Given the description of an element on the screen output the (x, y) to click on. 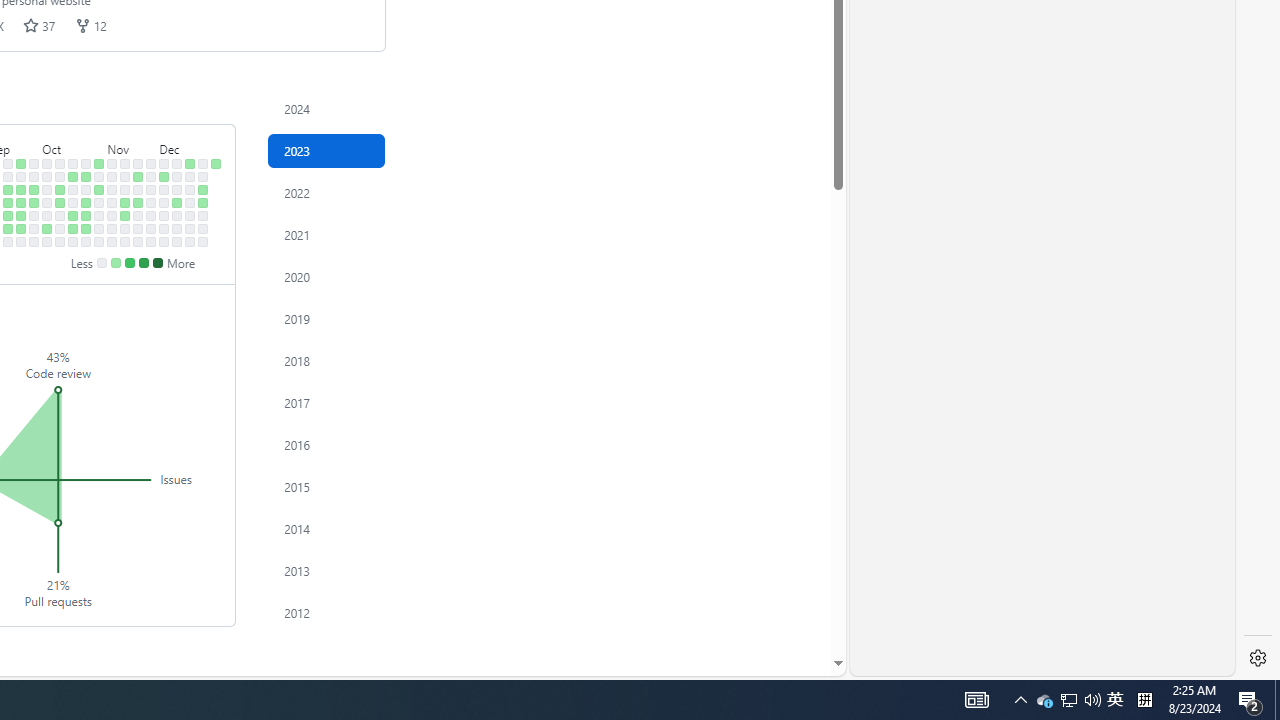
5 contributions on October 20th. (73, 228)
No contributions on November 18th. (125, 241)
No contributions on September 24th. (34, 163)
No contributions on December 15th. (177, 228)
No contributions on October 14th. (60, 241)
No contributions on November 29th. (151, 202)
4 contributions on September 21st. (20, 215)
No contributions on September 10th. (8, 163)
No contributions on October 15th. (73, 163)
No contributions on October 2nd. (47, 176)
1 contribution on November 16th. (125, 215)
stars (31, 25)
1 contribution on December 17th. (190, 163)
No contributions on September 16th. (8, 241)
